Given the description of an element on the screen output the (x, y) to click on. 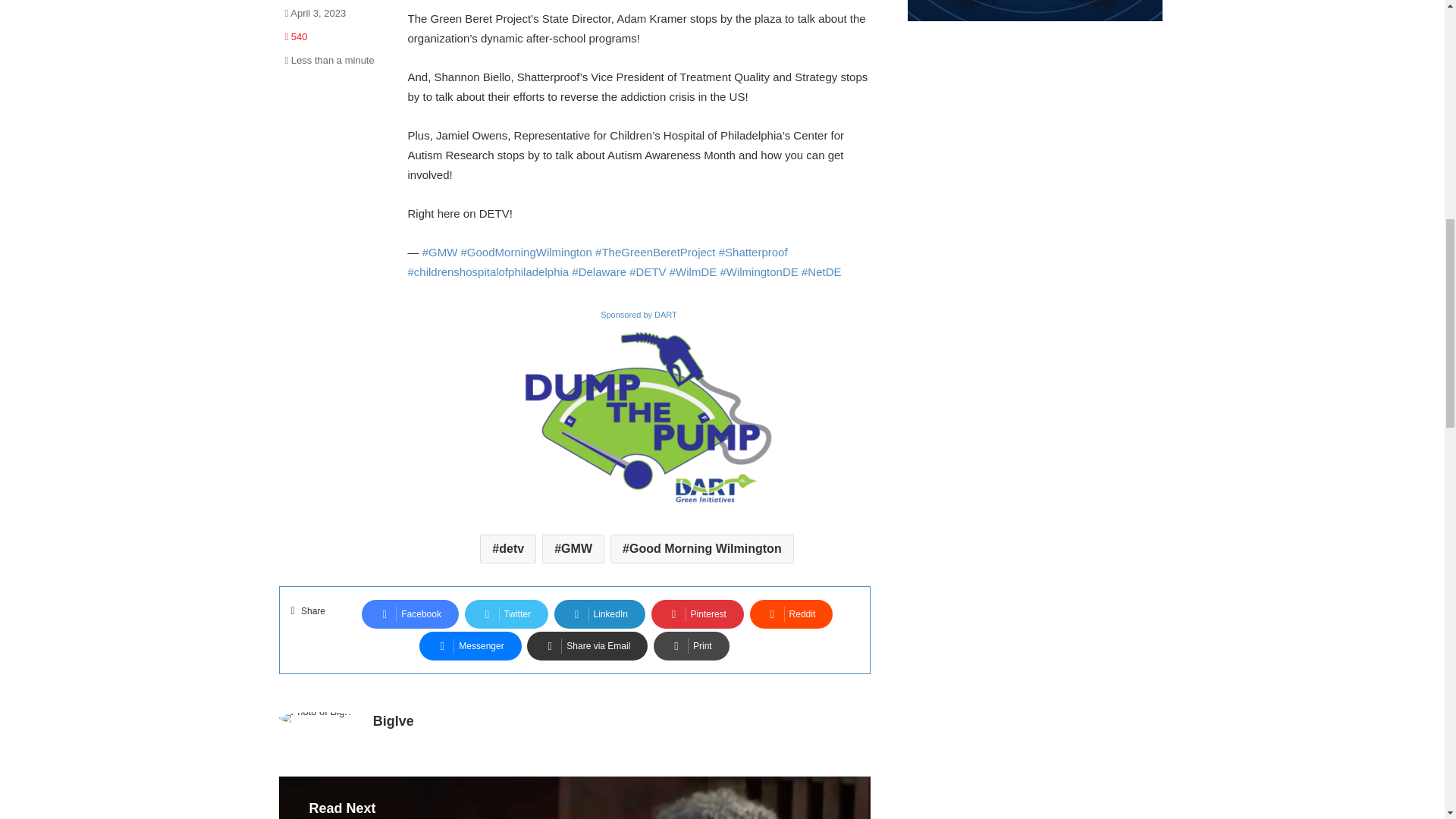
Sponsored by DART (638, 314)
Sponsored by DART (638, 415)
Twitter (506, 613)
Facebook (409, 613)
LinkedIn (599, 613)
